Given the description of an element on the screen output the (x, y) to click on. 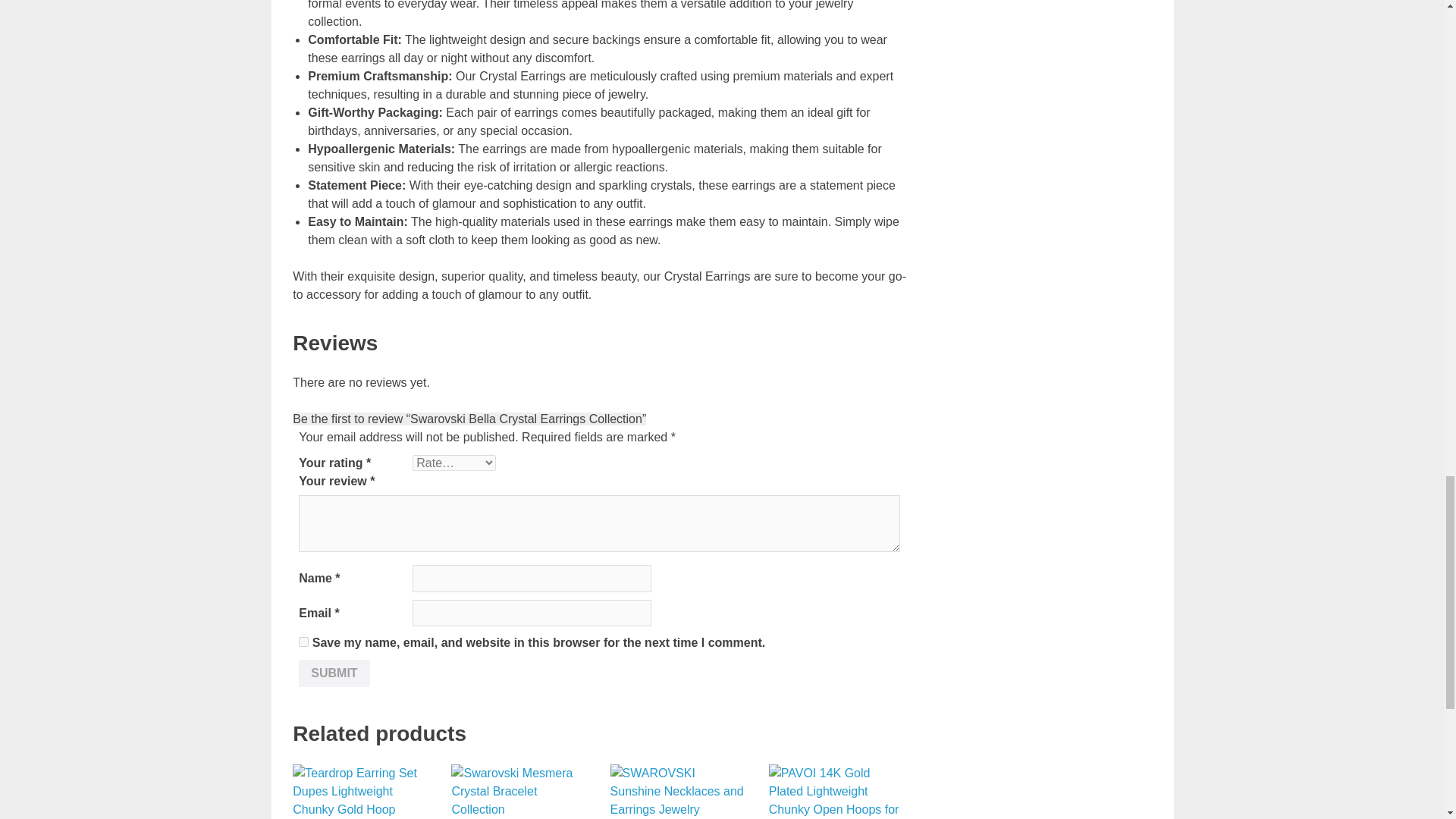
yes (303, 642)
Submit (333, 673)
Submit (333, 673)
PAVOI 14K Gold Plated Lightweight Open Hoops for Women (836, 791)
Teardrop Earring Set Dupes Lightweight Hoop Earrings (360, 791)
SWAROVSKI Sunshine Necklaces and Earrings Jewelry Collection (677, 791)
Swarovski Mesmera Crystal Bracelet Collection (518, 791)
